Given the description of an element on the screen output the (x, y) to click on. 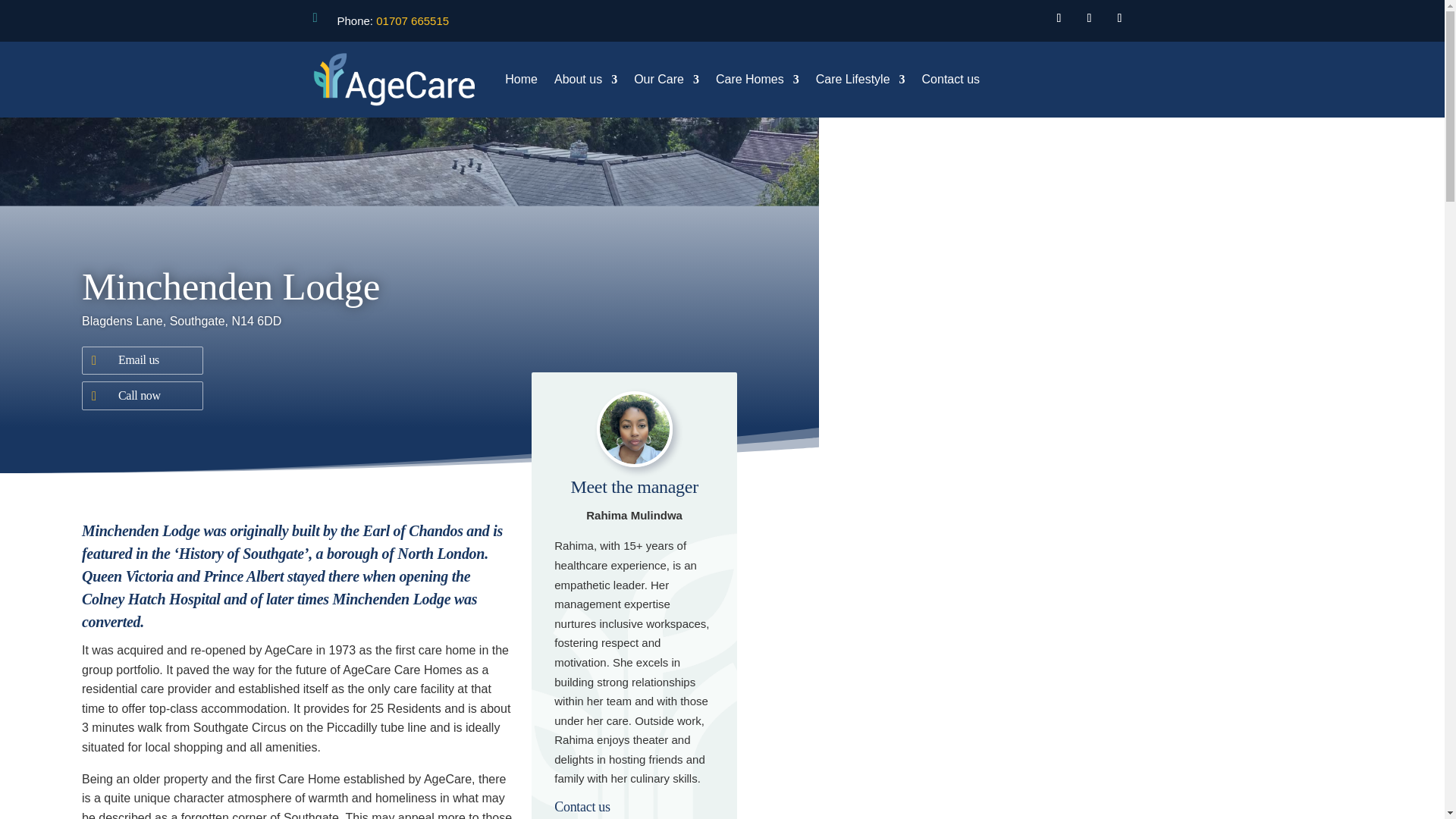
Follow on LinkedIn (1088, 17)
Care Lifestyle (860, 82)
Follow on Facebook (1058, 17)
Contact us (950, 82)
Our Care (665, 82)
Care Homes (757, 82)
About us (585, 82)
01707 665515 (411, 20)
Home (521, 82)
AgeCare (393, 79)
